Given the description of an element on the screen output the (x, y) to click on. 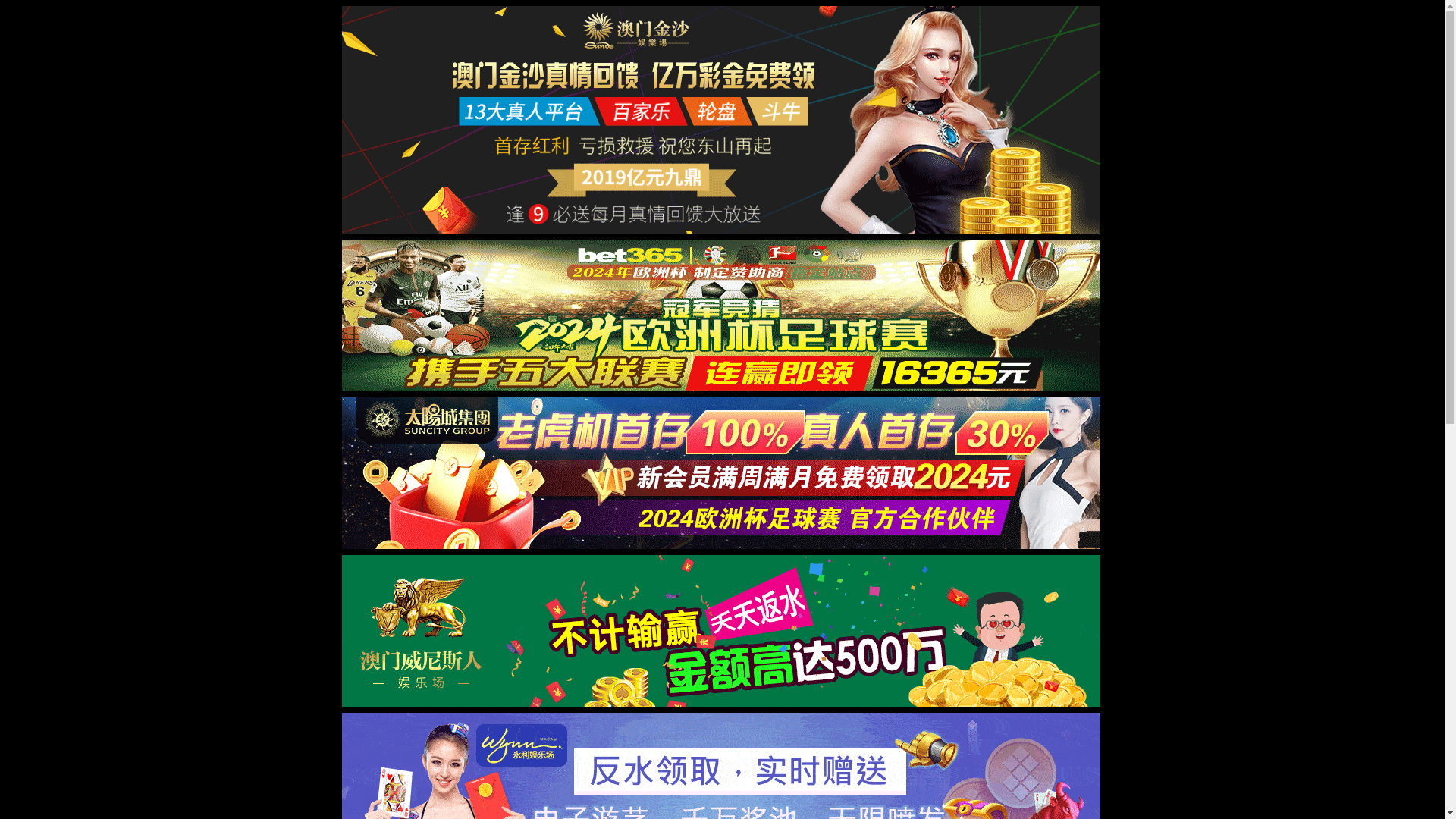
Corporate culture (1064, 31)
HR (1136, 31)
Home (675, 31)
Partner (842, 31)
About us (733, 31)
News (789, 31)
Contact us (1191, 31)
Case Study (972, 31)
Products (903, 31)
